Given the description of an element on the screen output the (x, y) to click on. 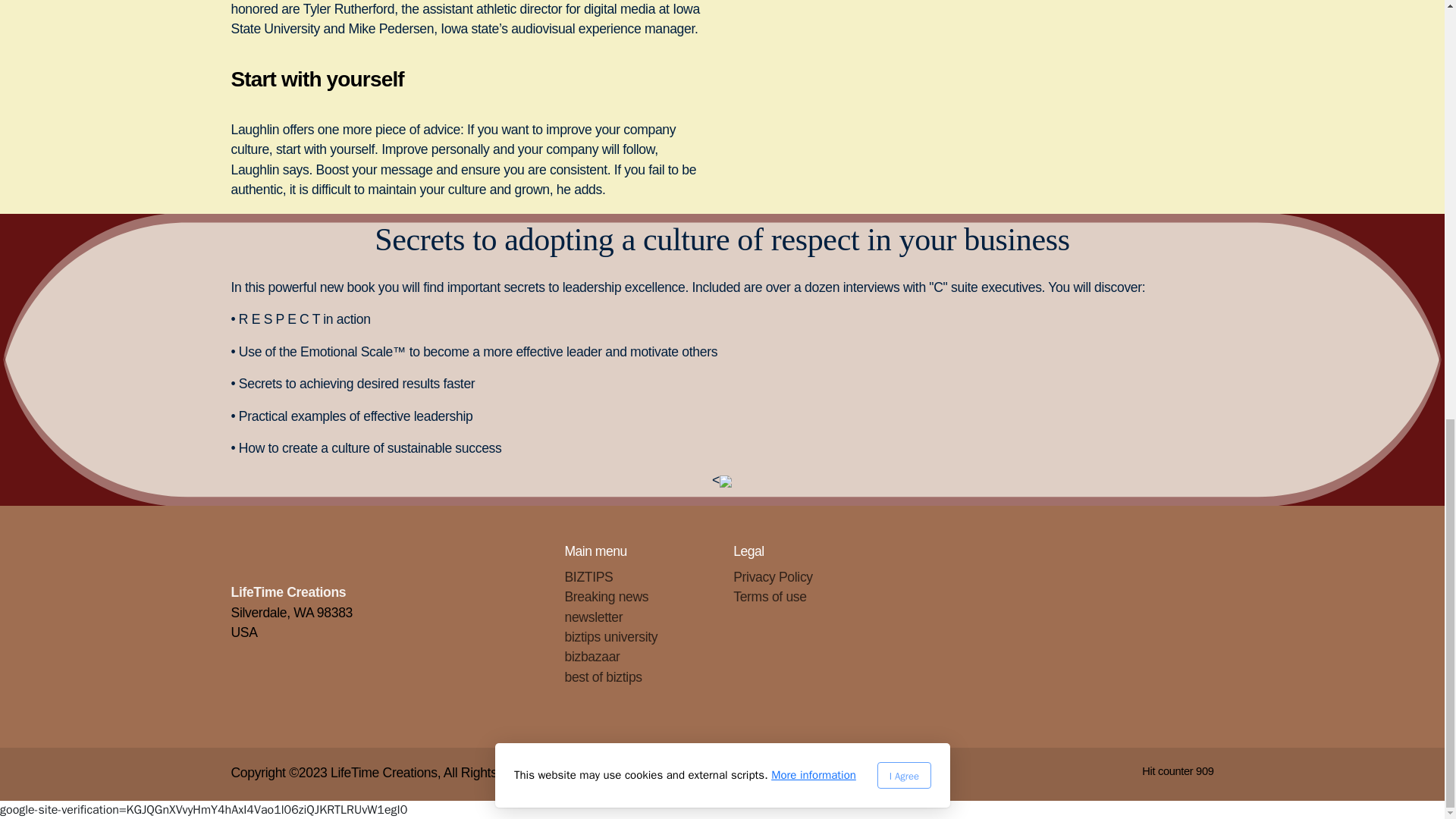
Terms of use (769, 596)
BIZTIPS (588, 576)
bizbazaar (592, 656)
biztips university (611, 636)
newsletter (593, 616)
Privacy Policy (772, 576)
bizbazaar (592, 656)
Terms of use (769, 596)
BIZTIPS (588, 576)
Privacy Policy (772, 576)
Breaking news (605, 596)
Breaking news (605, 596)
best of biztips (603, 676)
best of biztips (603, 676)
biztips university (611, 636)
